Given the description of an element on the screen output the (x, y) to click on. 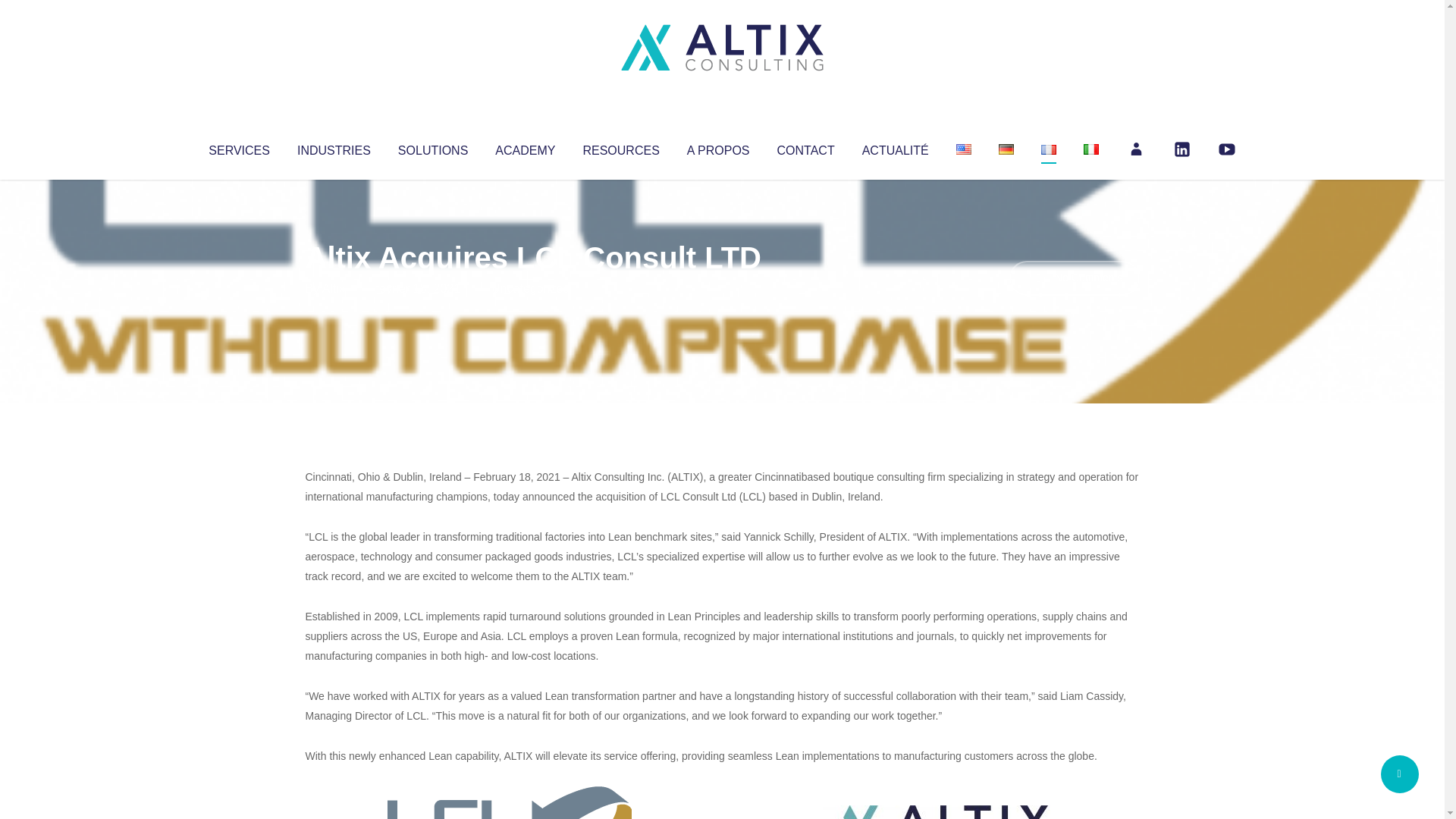
SERVICES (238, 146)
A PROPOS (718, 146)
Articles par Altix (333, 287)
SOLUTIONS (432, 146)
RESOURCES (620, 146)
No Comments (1073, 278)
INDUSTRIES (334, 146)
ACADEMY (524, 146)
Uncategorized (530, 287)
Altix (333, 287)
